Given the description of an element on the screen output the (x, y) to click on. 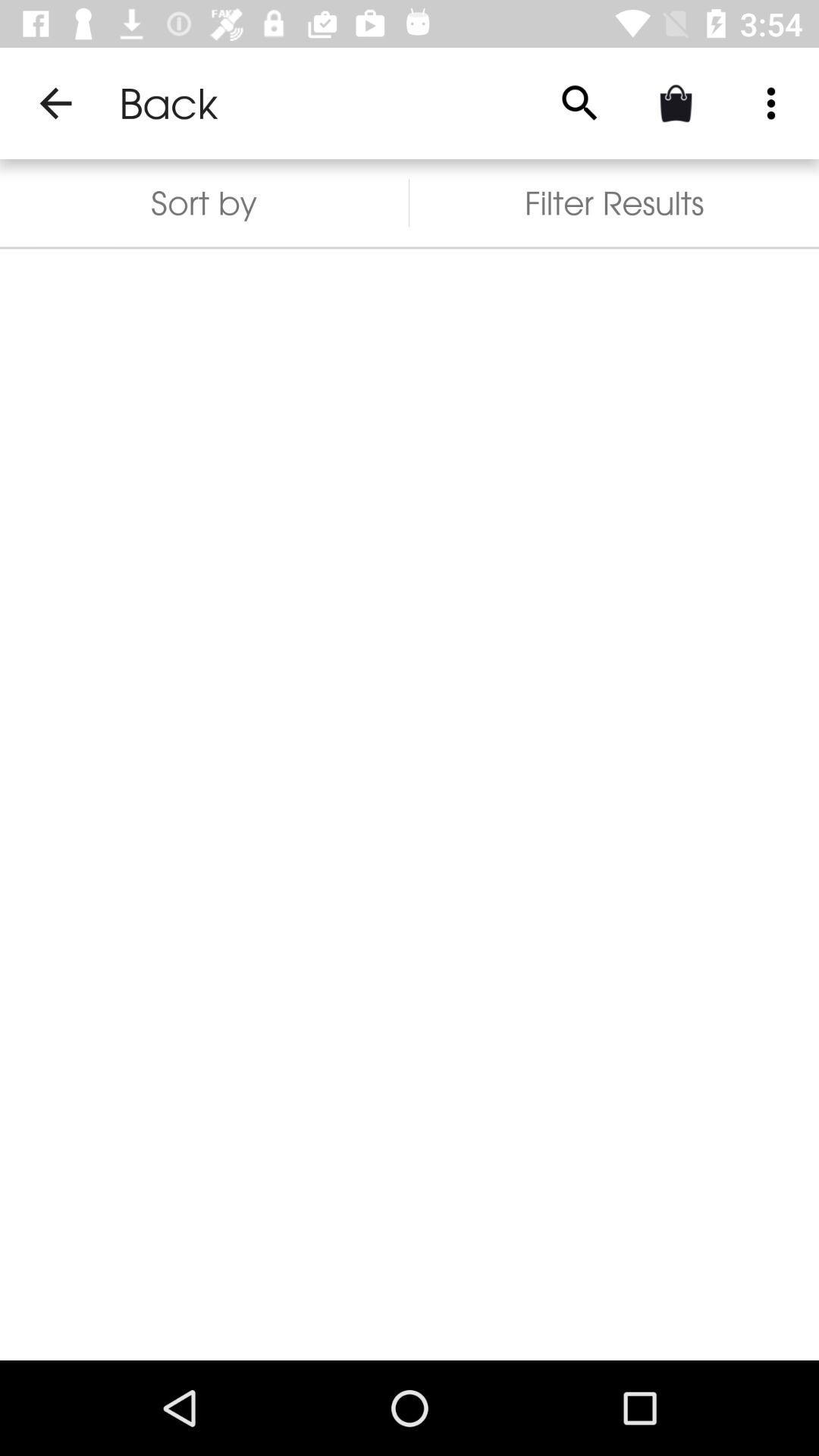
turn on item above the sort by item (55, 103)
